Given the description of an element on the screen output the (x, y) to click on. 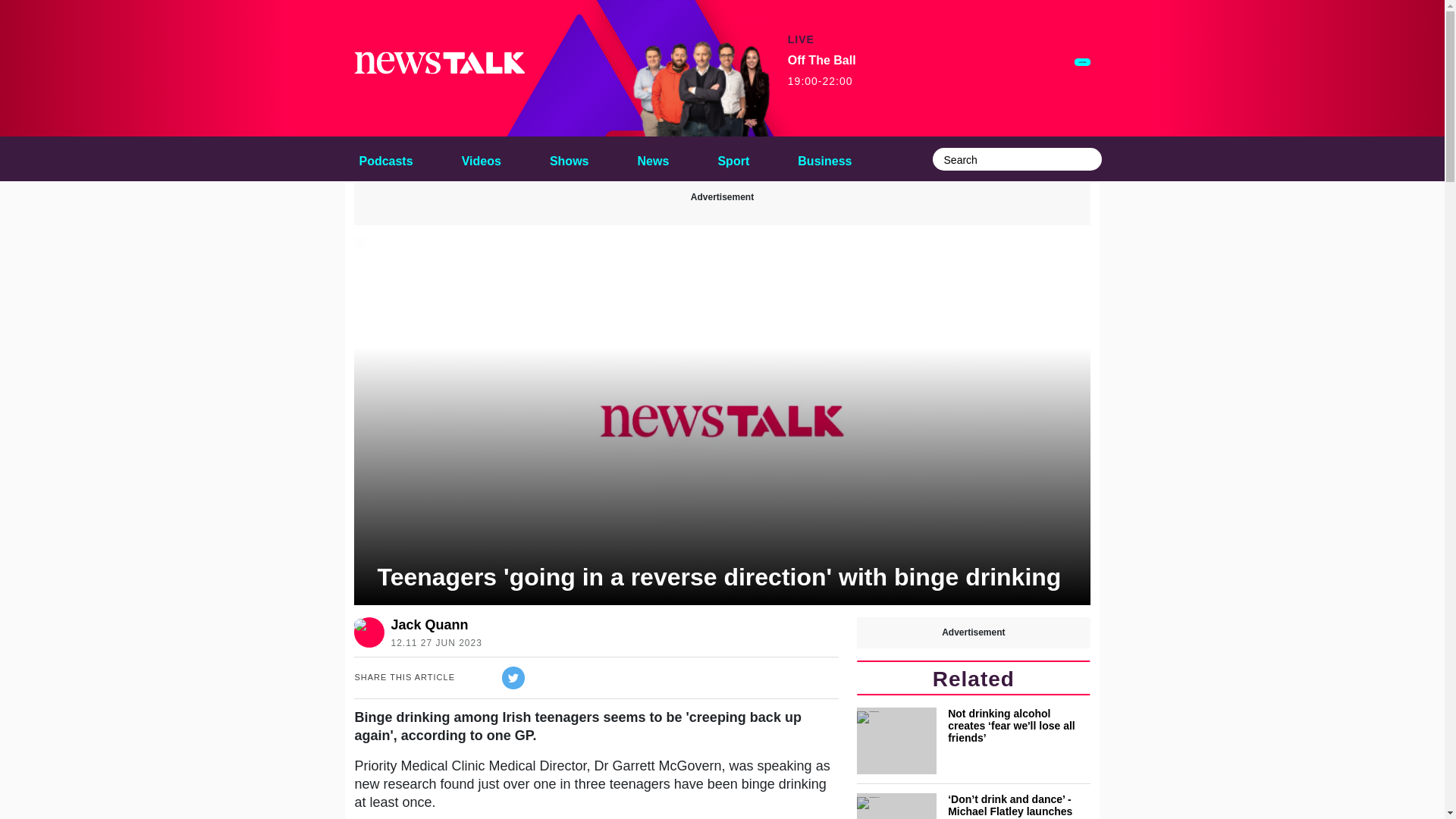
Shows (569, 158)
Shows (569, 158)
News (653, 158)
Business (824, 158)
Business (824, 158)
Videos (481, 158)
Podcasts (384, 158)
Podcasts (384, 158)
News (653, 158)
